Given the description of an element on the screen output the (x, y) to click on. 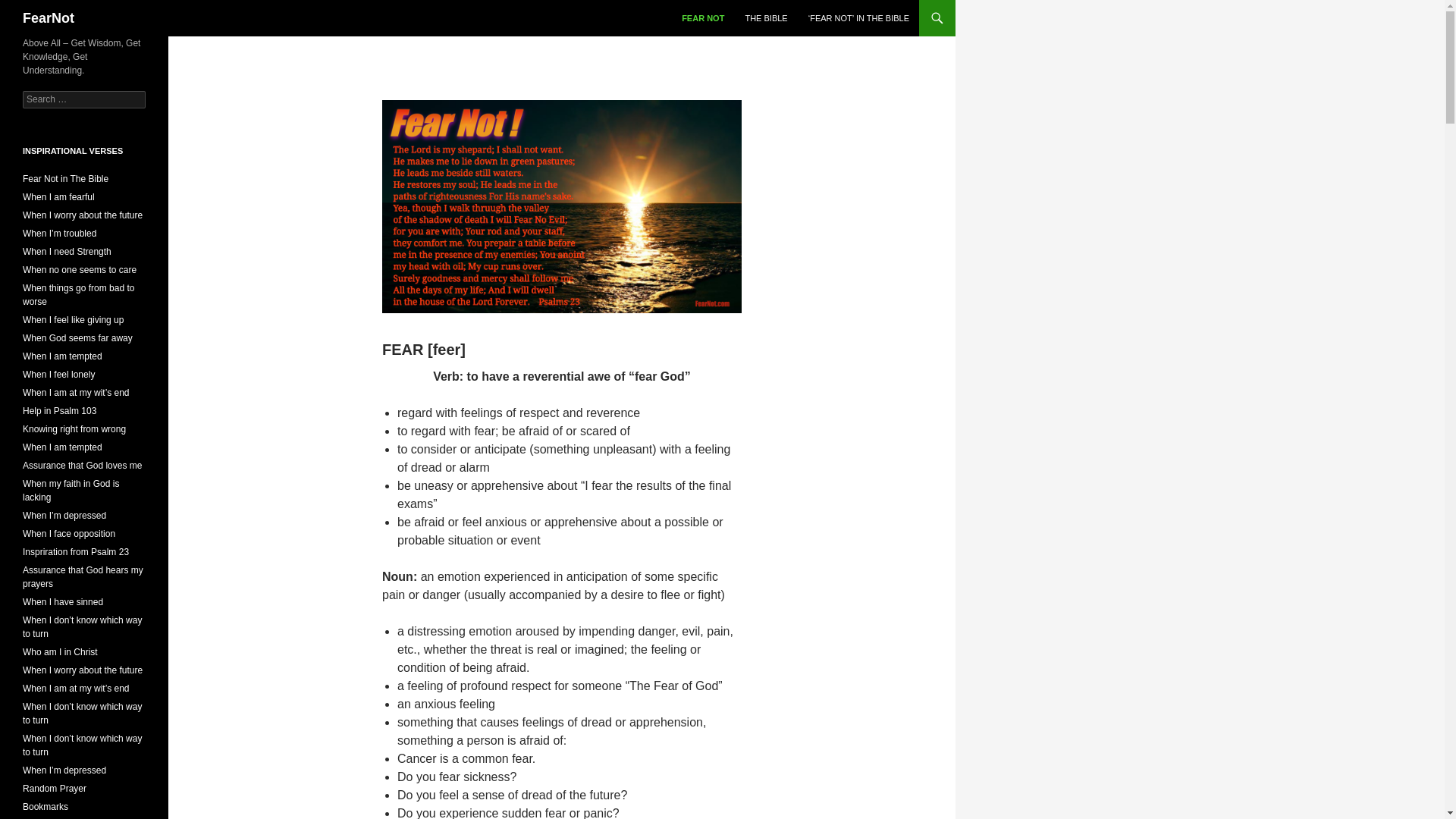
FEAR NOT (702, 18)
THE BIBLE (765, 18)
FearNot (48, 18)
